Given the description of an element on the screen output the (x, y) to click on. 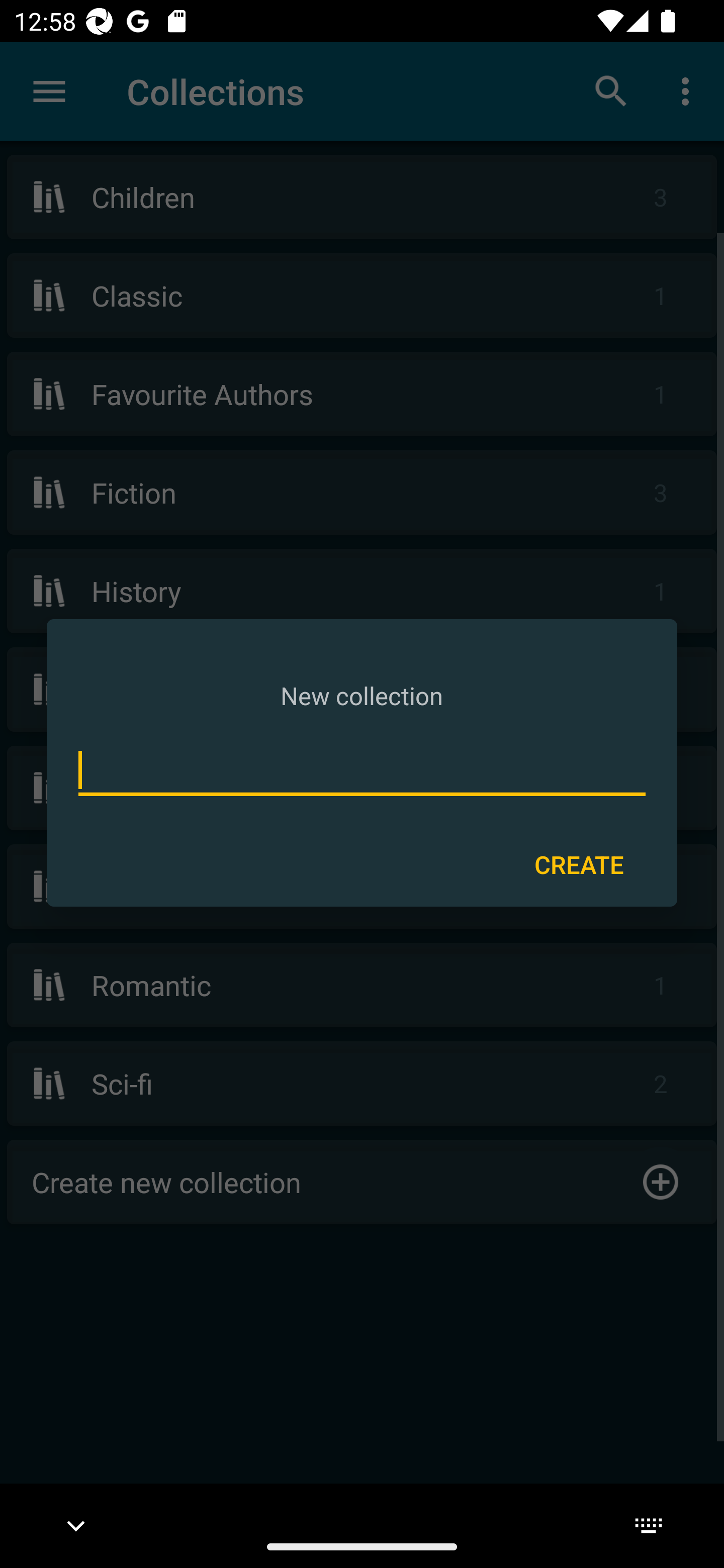
CREATE (578, 863)
